Given the description of an element on the screen output the (x, y) to click on. 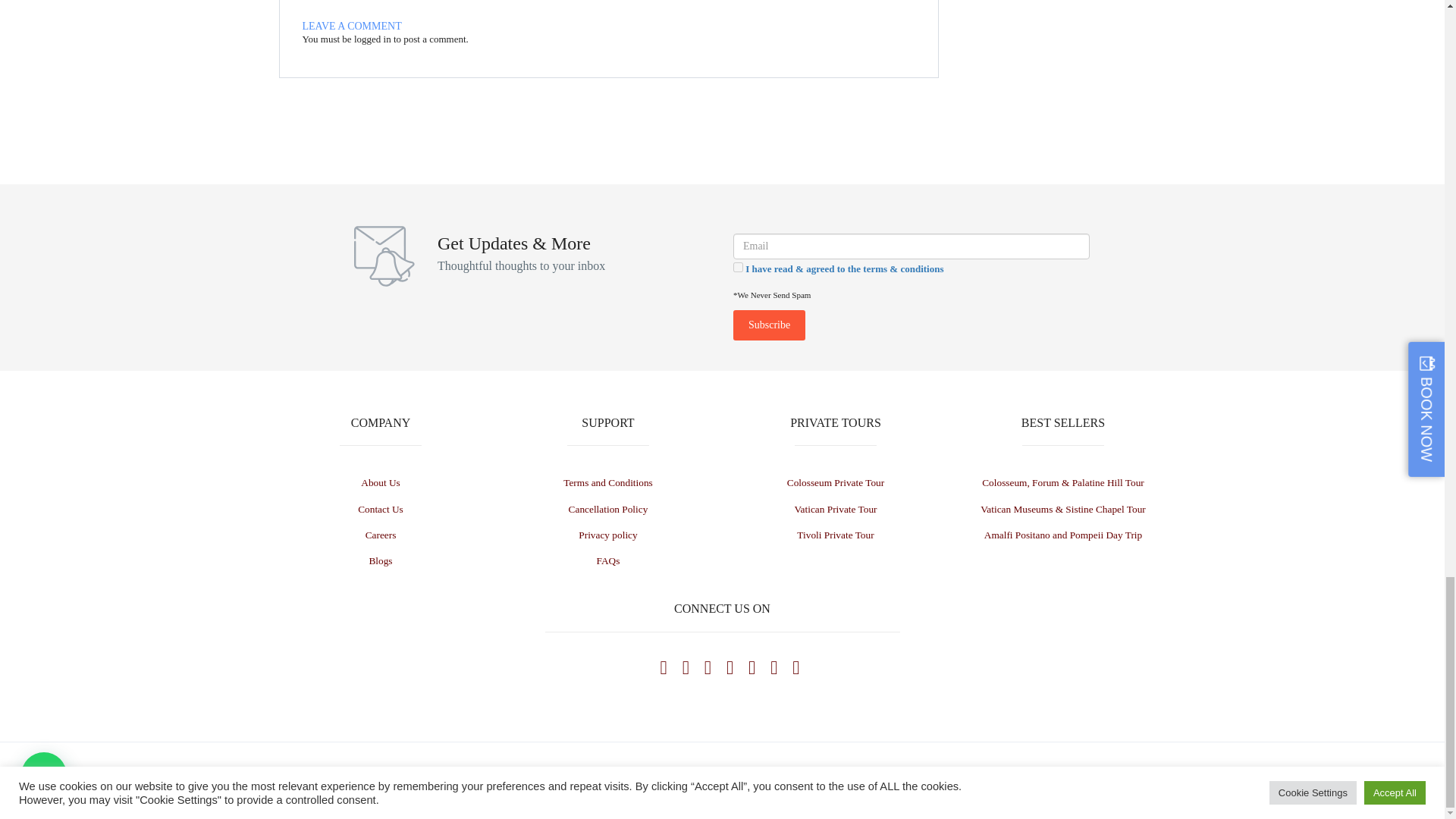
1 (737, 266)
Subscribe (769, 325)
